Given the description of an element on the screen output the (x, y) to click on. 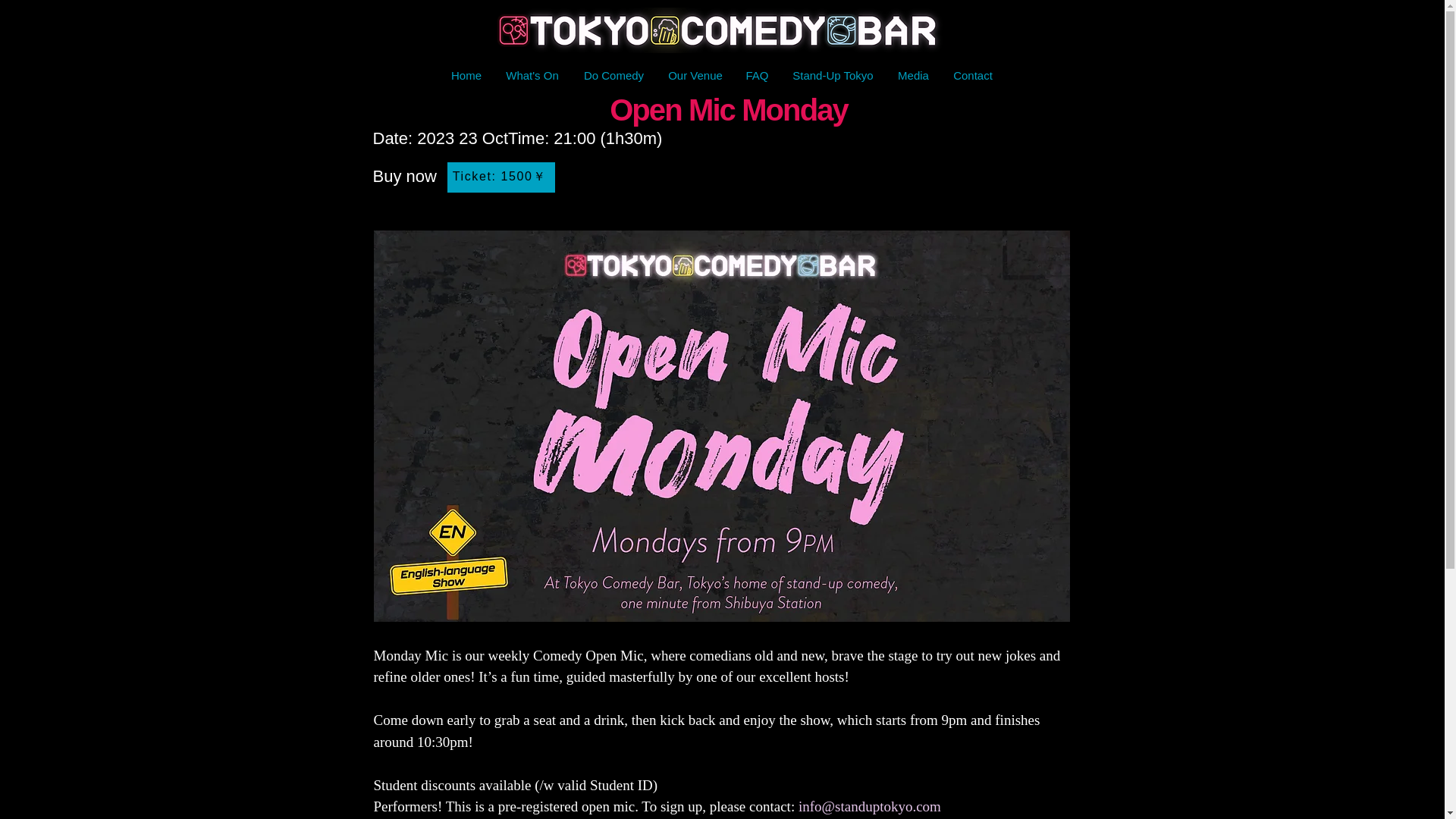
Contact (972, 75)
Do Comedy (614, 75)
Stand-Up Tokyo (831, 75)
Our Venue (695, 75)
FAQ (755, 75)
Media (912, 75)
Home (466, 75)
What's On (531, 75)
